Given the description of an element on the screen output the (x, y) to click on. 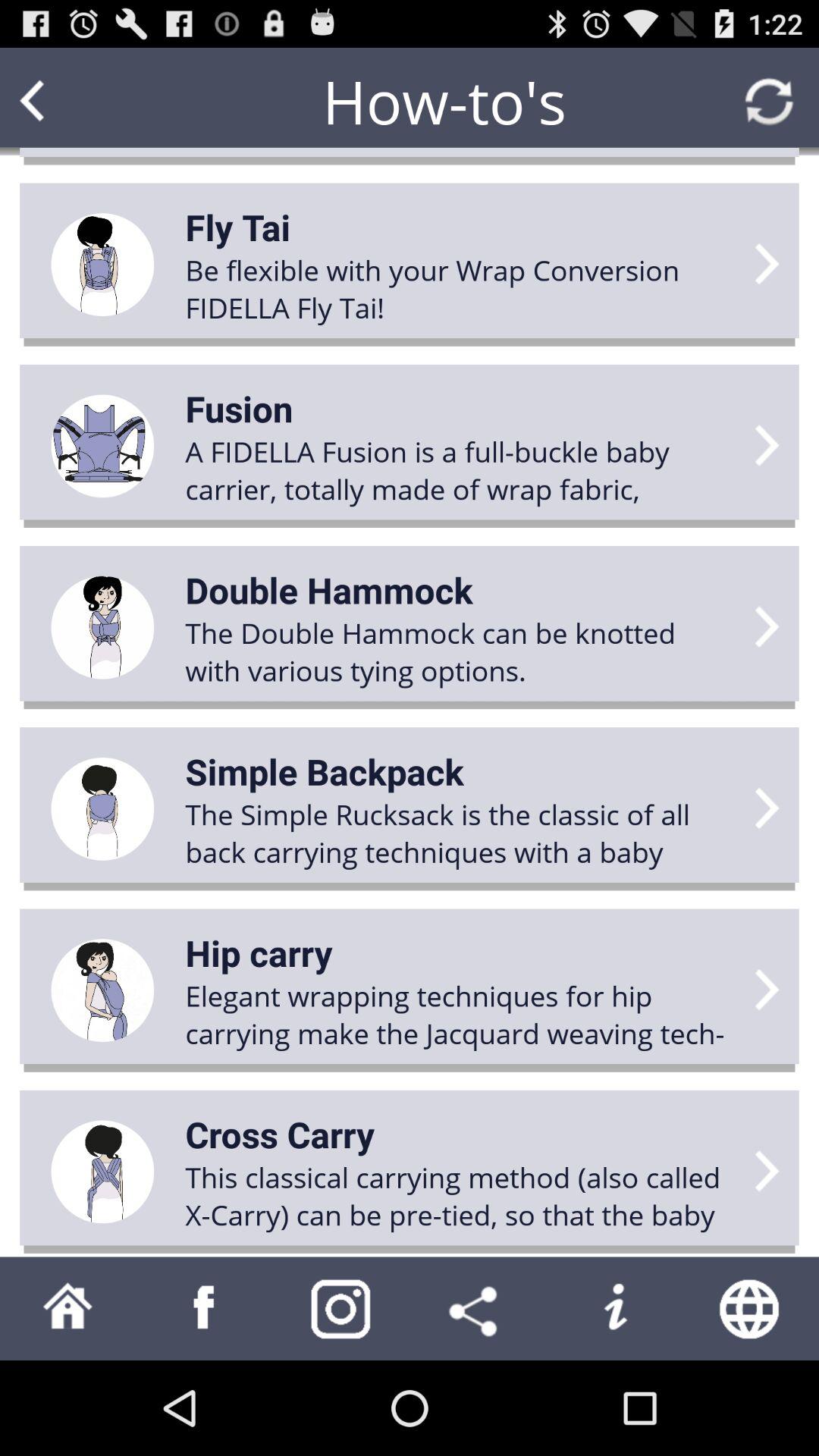
share with others (477, 1308)
